Given the description of an element on the screen output the (x, y) to click on. 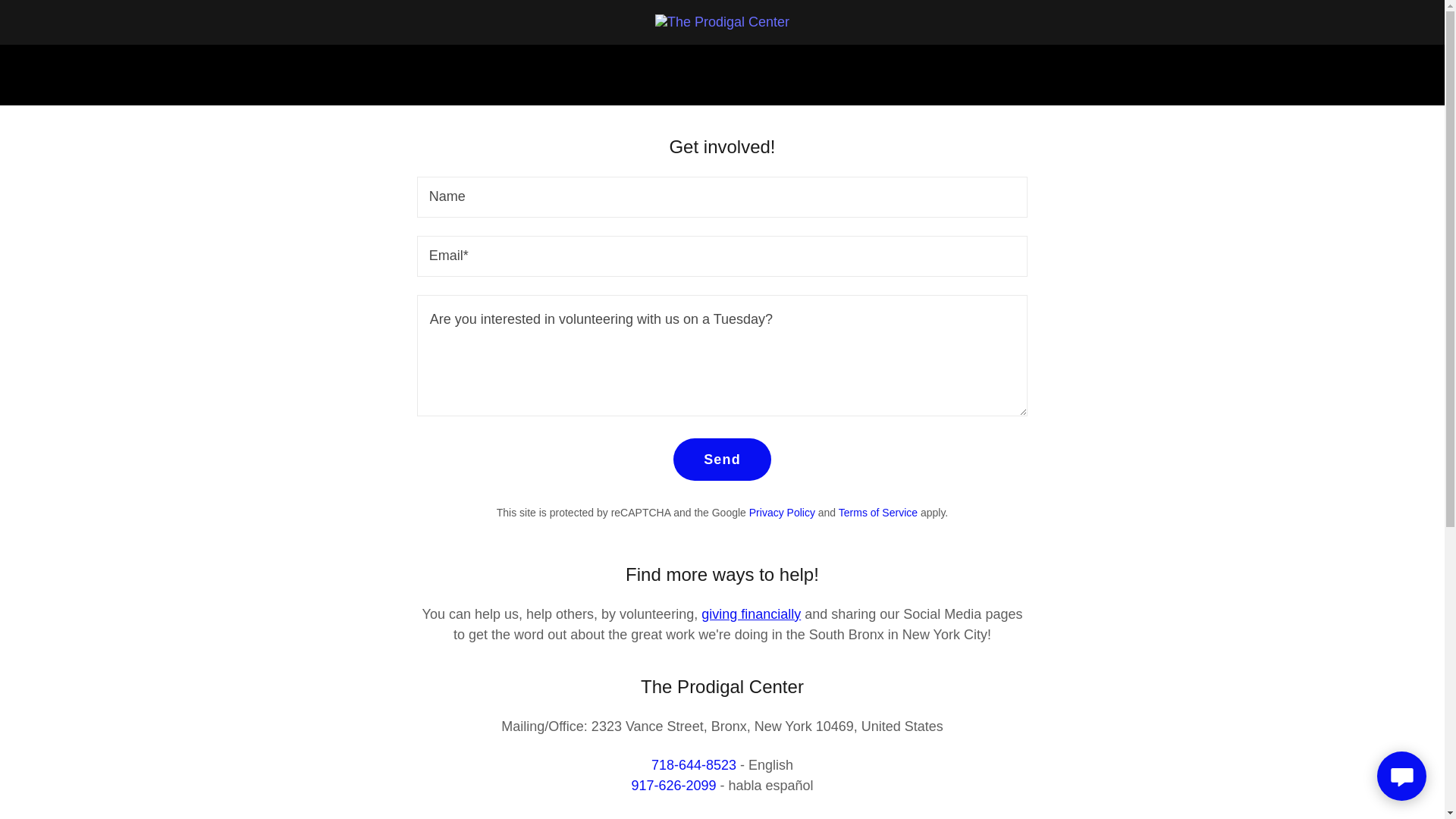
The Prodigal Center (722, 21)
917-626-2099 (673, 785)
Terms of Service (877, 512)
Privacy Policy (782, 512)
giving financially (750, 613)
718-644-8523 (693, 765)
Send (721, 459)
